Given the description of an element on the screen output the (x, y) to click on. 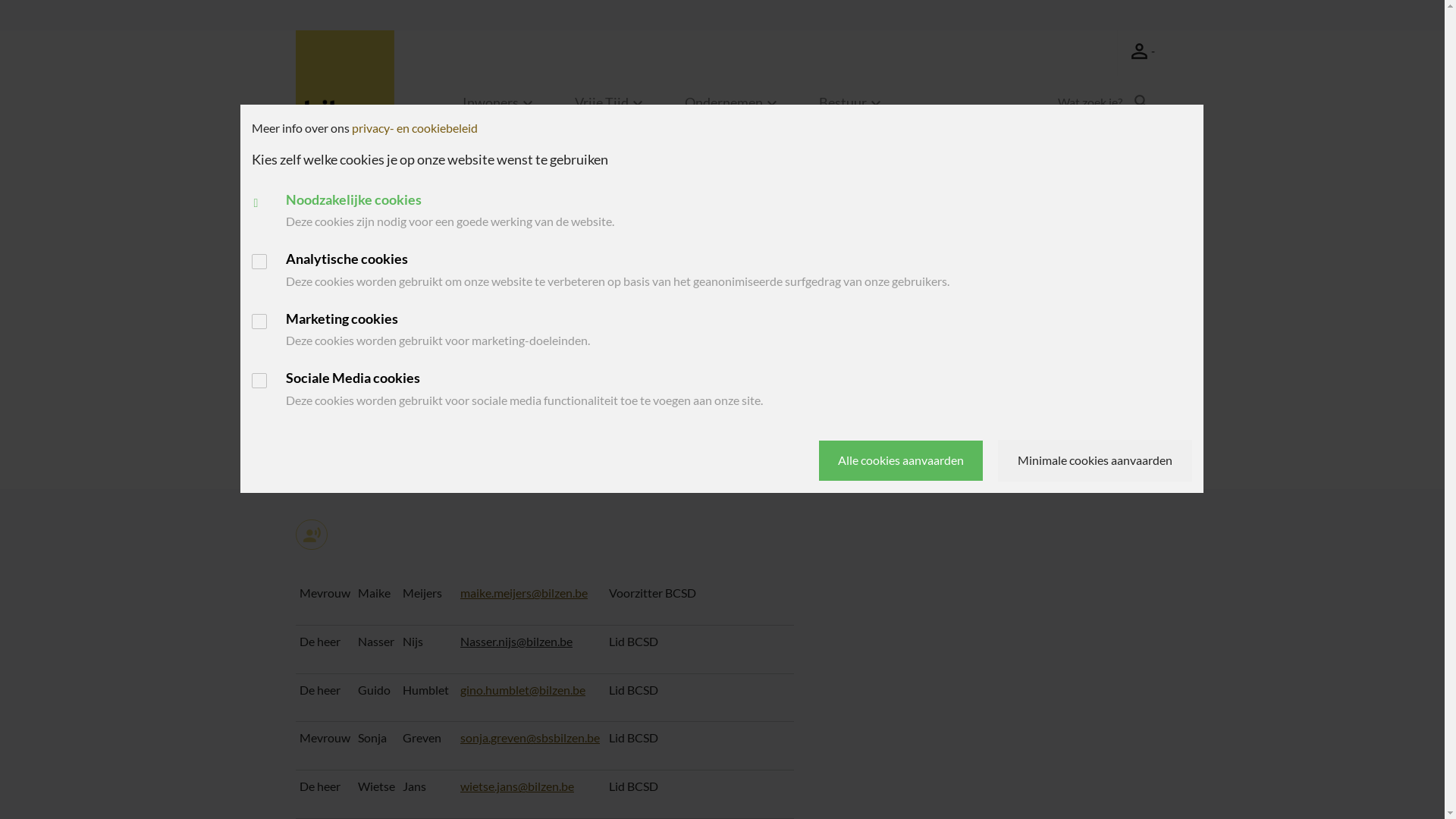
sonja.greven@sbsbilzen.be Element type: text (529, 737)
privacy- en cookiebeleid Element type: text (414, 127)
Ondernemen Element type: text (732, 111)
Inwoners Element type: text (499, 111)
Home Element type: text (324, 430)
Vast bureau - OCMW-raad Element type: text (471, 430)
Ga naar de startpagina Element type: hover (344, 79)
Minimale cookies aanvaarden Element type: text (1094, 460)
wietse.jans@bilzen.be Element type: text (517, 785)
Vrije Tijd Element type: text (610, 111)
Luister naar deze pagina met behulp van ReadSpeaker Element type: hover (311, 535)
Bestuur Element type: text (373, 430)
Bestuur Element type: text (851, 111)
Alle cookies aanvaarden Element type: text (900, 460)
maike.meijers@bilzen.be Element type: text (523, 592)
gino.humblet@bilzen.be Element type: text (522, 689)
